Given the description of an element on the screen output the (x, y) to click on. 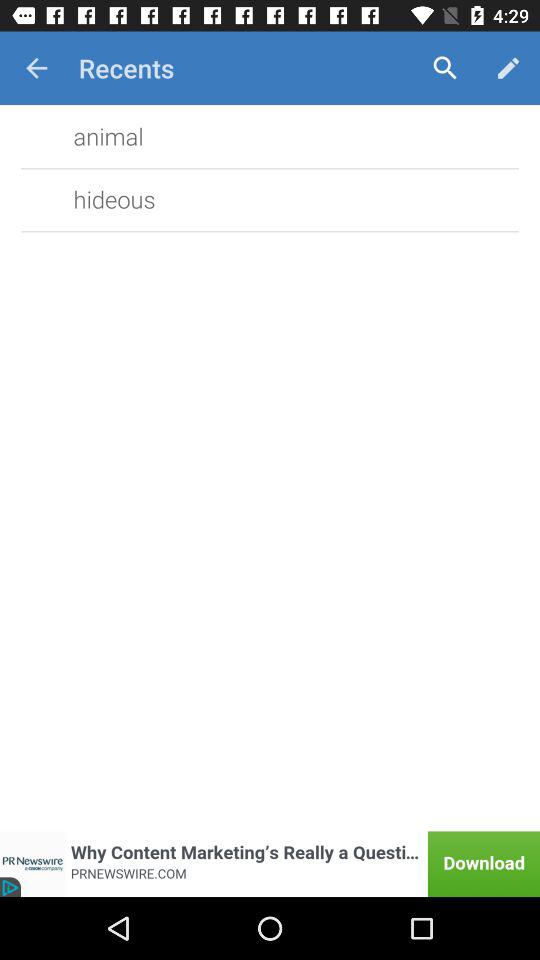
press the icon to the right of recents icon (444, 67)
